Given the description of an element on the screen output the (x, y) to click on. 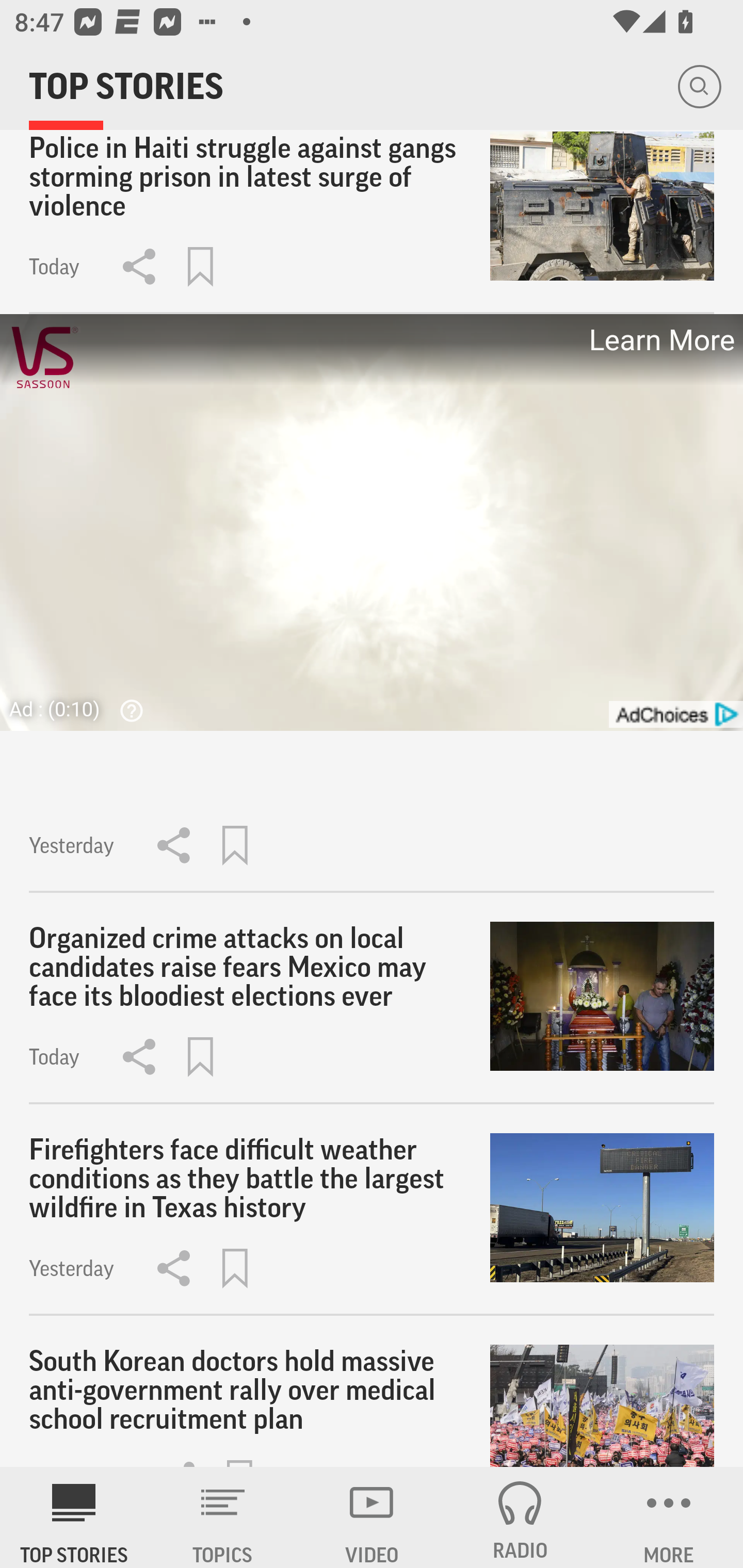
Learn More (660, 339)
Ad : (0:10) Why This Ad? (82, 709)
Why This Ad? (126, 710)
get?name=admarker-full-tl (675, 714)
AP News TOP STORIES (74, 1517)
TOPICS (222, 1517)
VIDEO (371, 1517)
RADIO (519, 1517)
MORE (668, 1517)
